Given the description of an element on the screen output the (x, y) to click on. 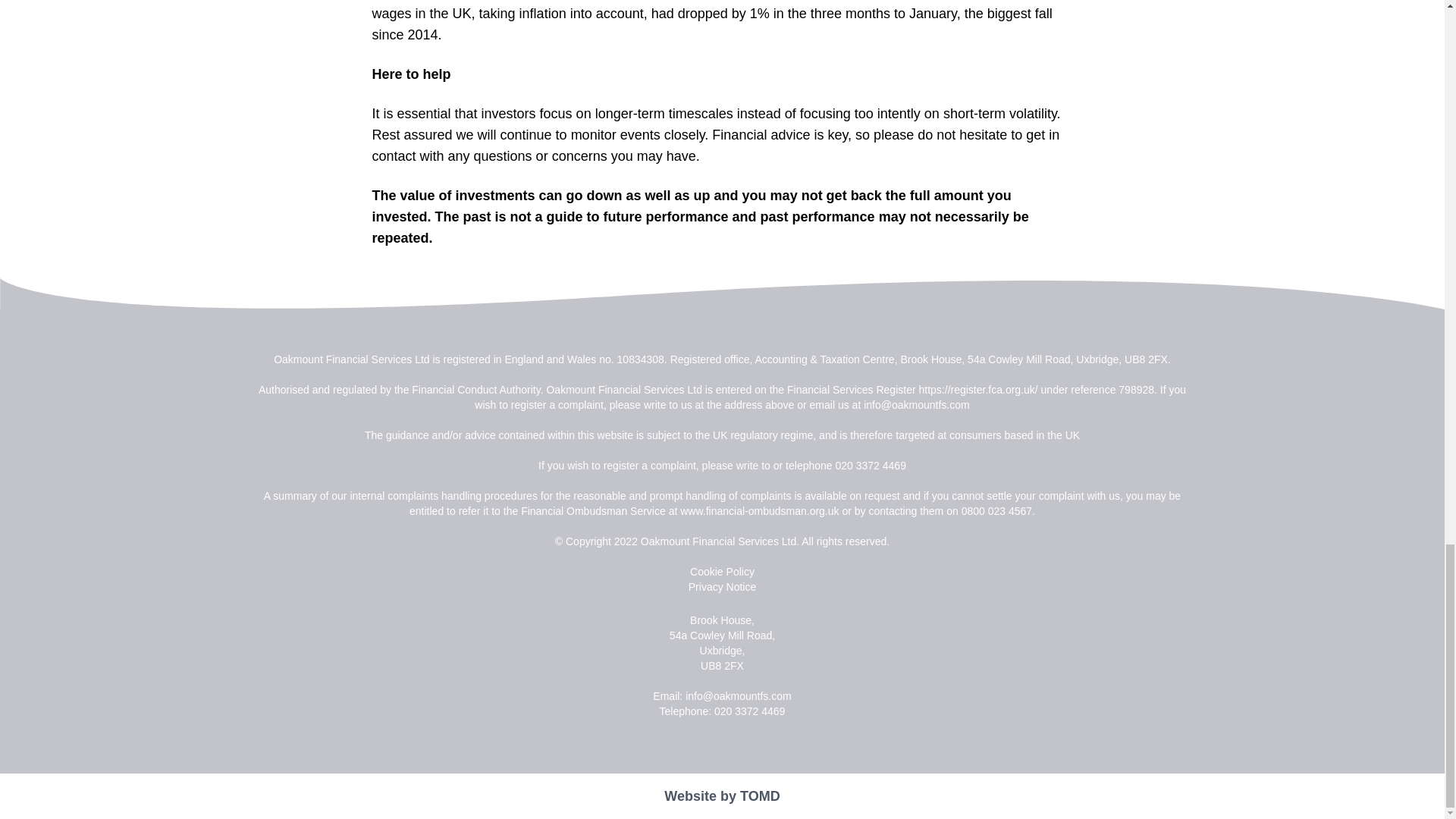
020 3372 4469 (870, 465)
